Given the description of an element on the screen output the (x, y) to click on. 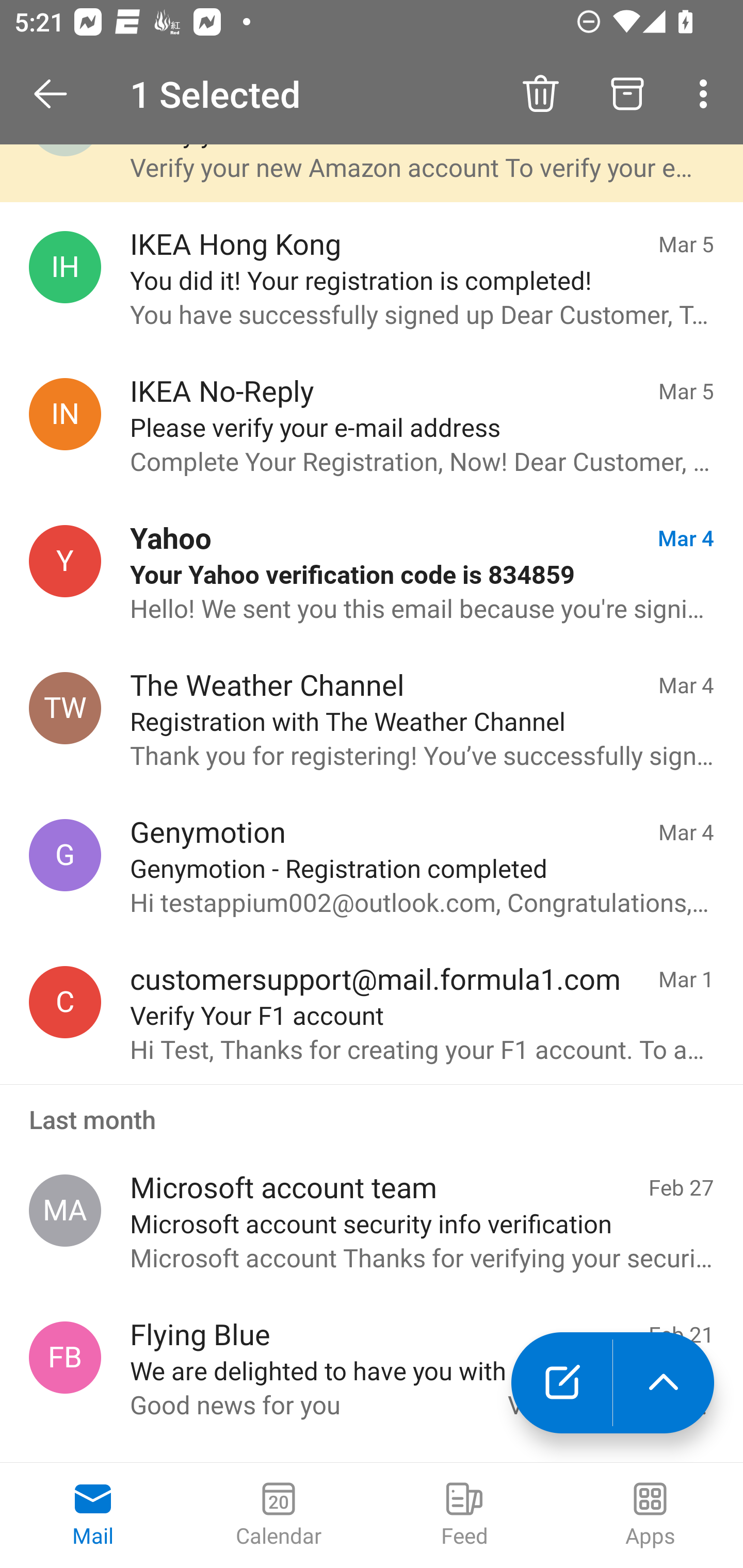
Delete (540, 93)
Archive (626, 93)
More options (706, 93)
Close Navigation Drawer (57, 94)
IKEA Hong Kong, IKHK_AWS@ikea.com.hk (64, 266)
IKEA No-Reply, noreply@ikea.com.hk (64, 413)
Yahoo, no-reply@cc.yahoo-inc.com (64, 561)
The Weather Channel, noreply@weather.com (64, 708)
Genymotion, genymotion-activation@genymobile.com (64, 854)
Flying Blue, do_not_reply@info-flyingblue.com (64, 1357)
New mail (561, 1382)
launch the extended action menu (663, 1382)
Calendar (278, 1515)
Feed (464, 1515)
Apps (650, 1515)
